Given the description of an element on the screen output the (x, y) to click on. 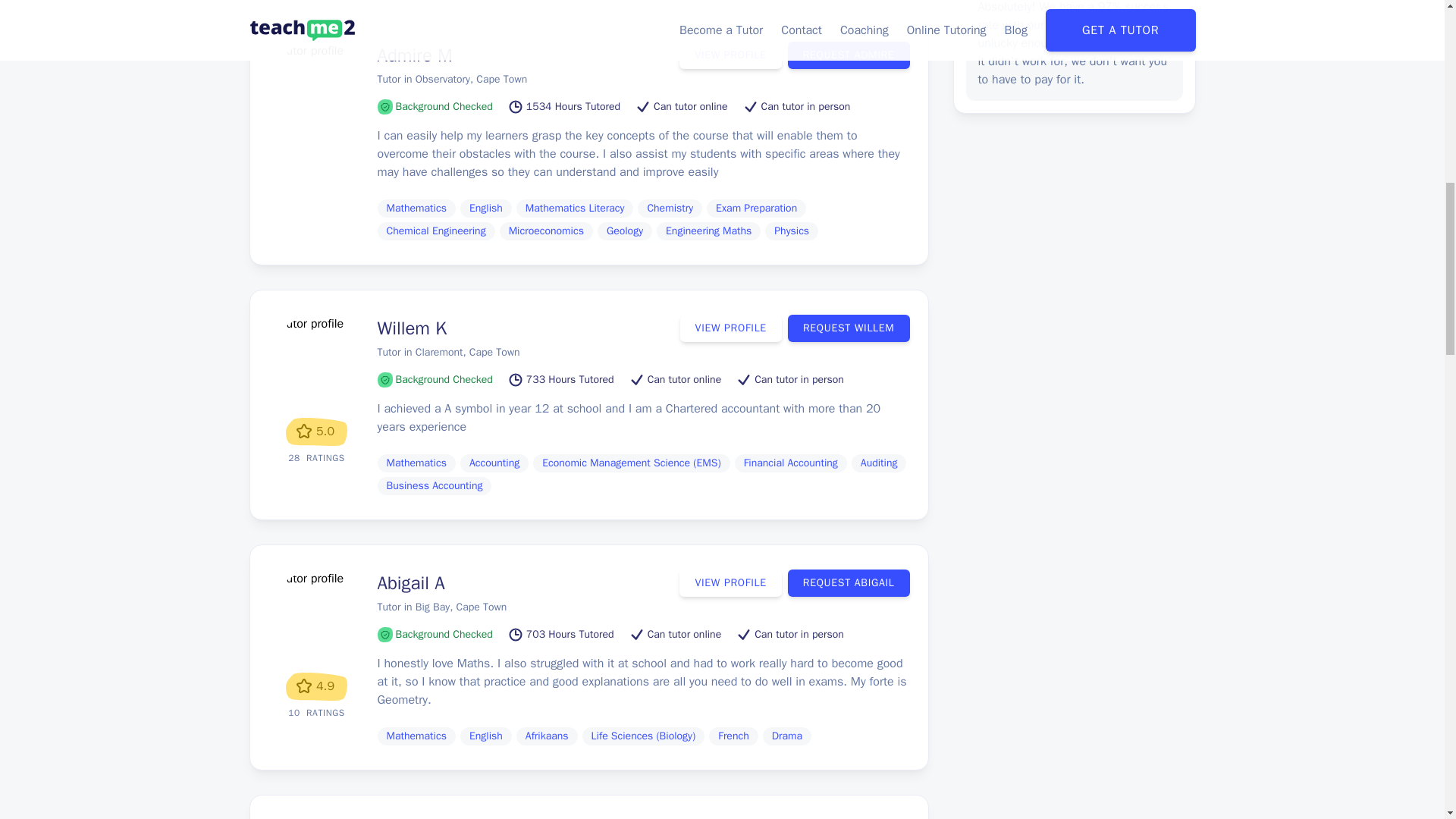
Admire M (414, 55)
